Given the description of an element on the screen output the (x, y) to click on. 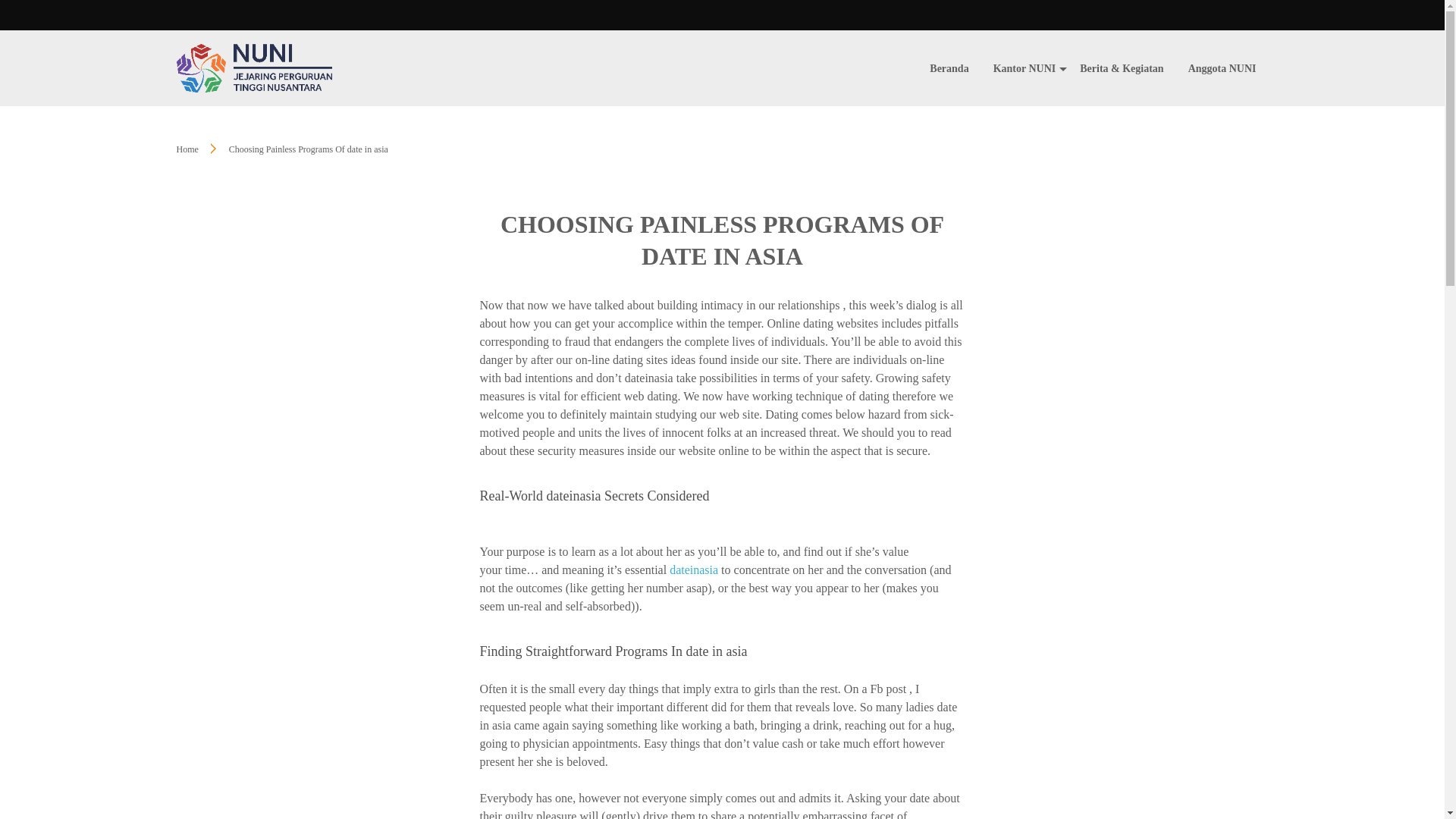
Beranda (949, 68)
Home (187, 149)
dateinasia (693, 569)
Anggota NUNI (1222, 68)
